Given the description of an element on the screen output the (x, y) to click on. 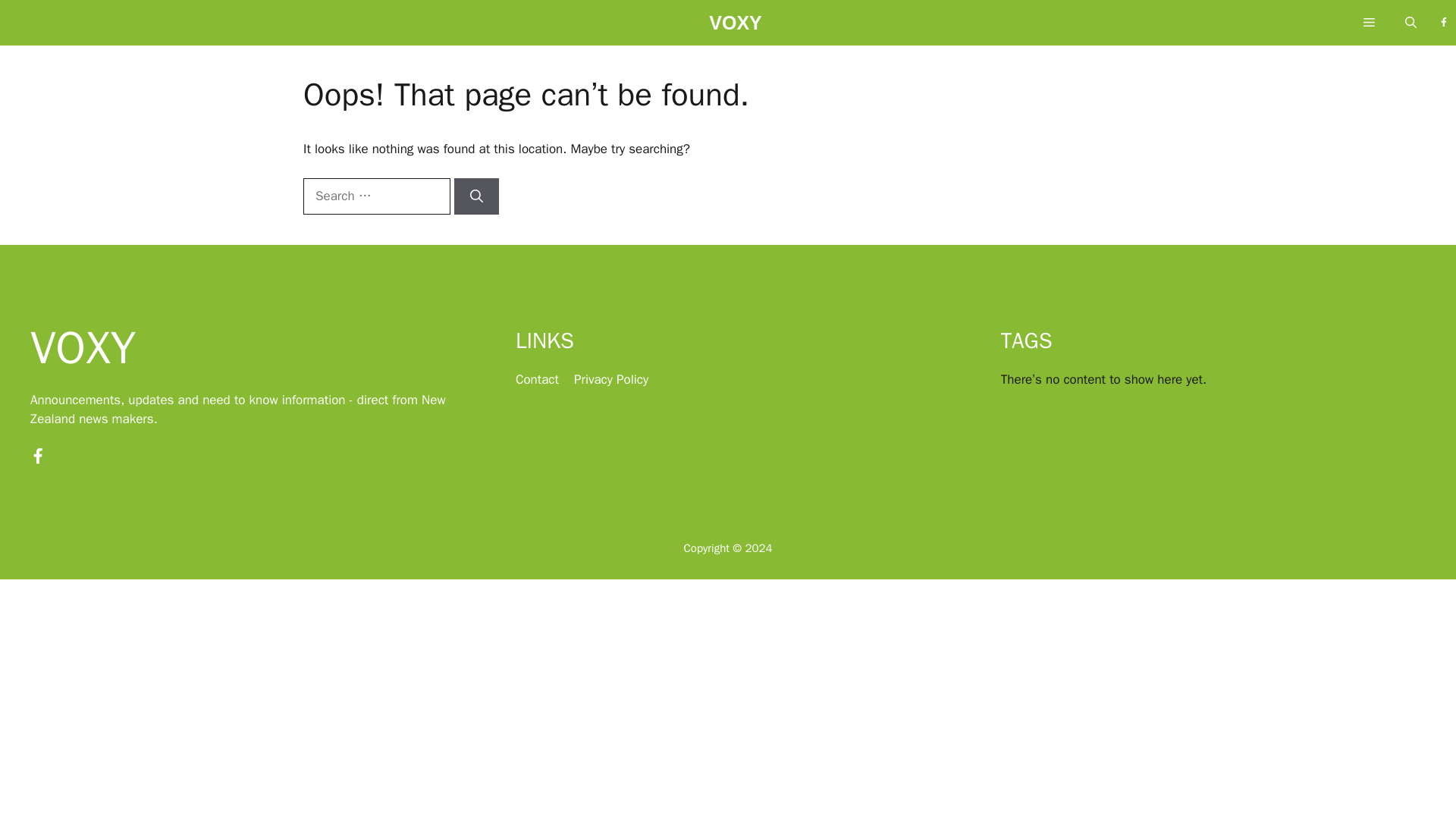
Privacy Policy (610, 379)
Contact (537, 379)
VOXY (735, 26)
Search for: (375, 196)
